Given the description of an element on the screen output the (x, y) to click on. 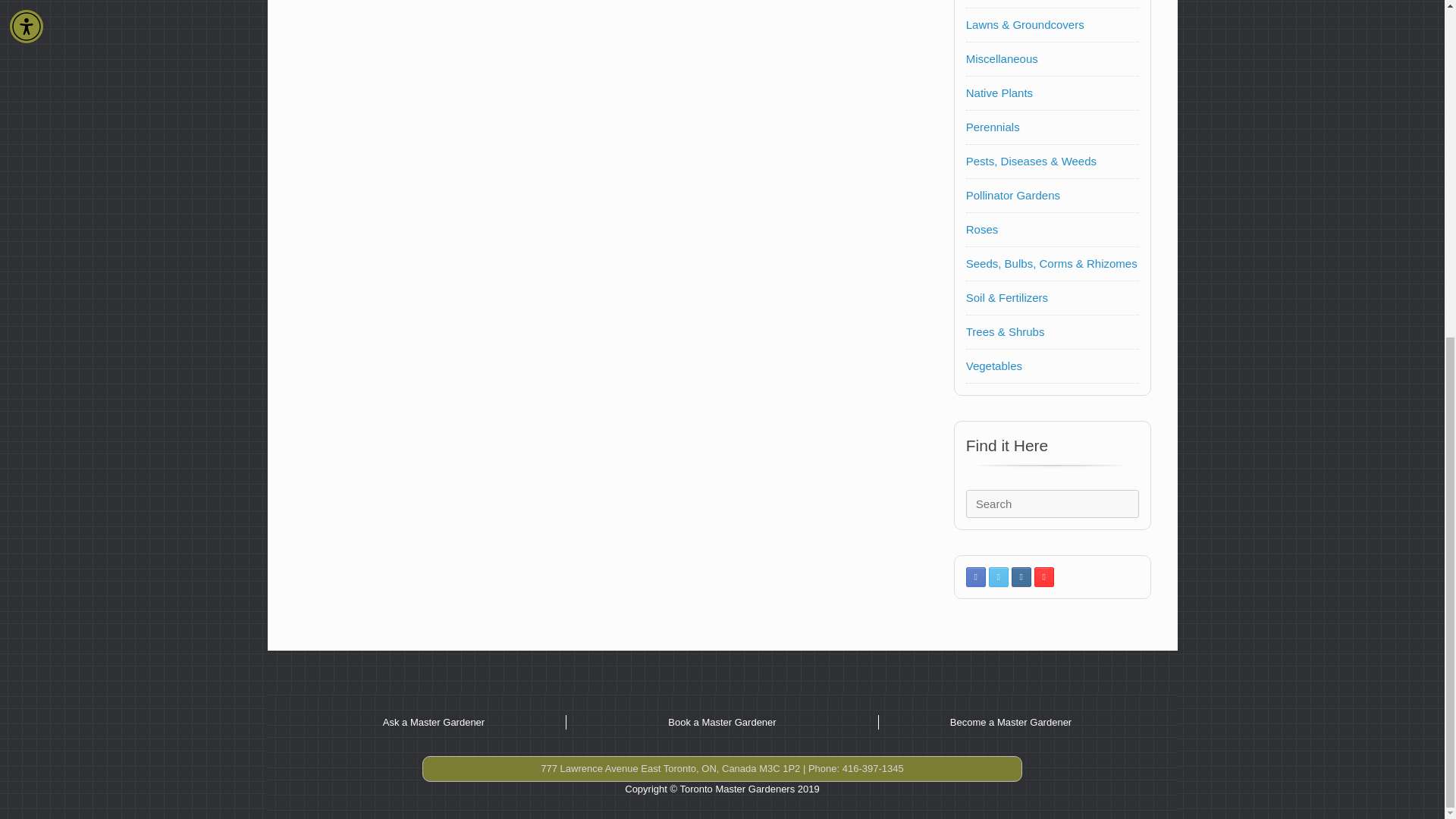
Book a Master Gardener (722, 722)
Native Plants (999, 92)
Toronto Master Gardeners Facebook (975, 577)
Roses (982, 228)
Ask a Master Gardener (433, 722)
Pollinator Gardens (1012, 195)
Toronto Master Gardeners Instagram (1020, 577)
Toronto Master Gardeners YouTube (1043, 577)
Perennials (993, 126)
Become a Master Gardener (1010, 722)
Vegetables (994, 365)
Miscellaneous (1002, 58)
